Given the description of an element on the screen output the (x, y) to click on. 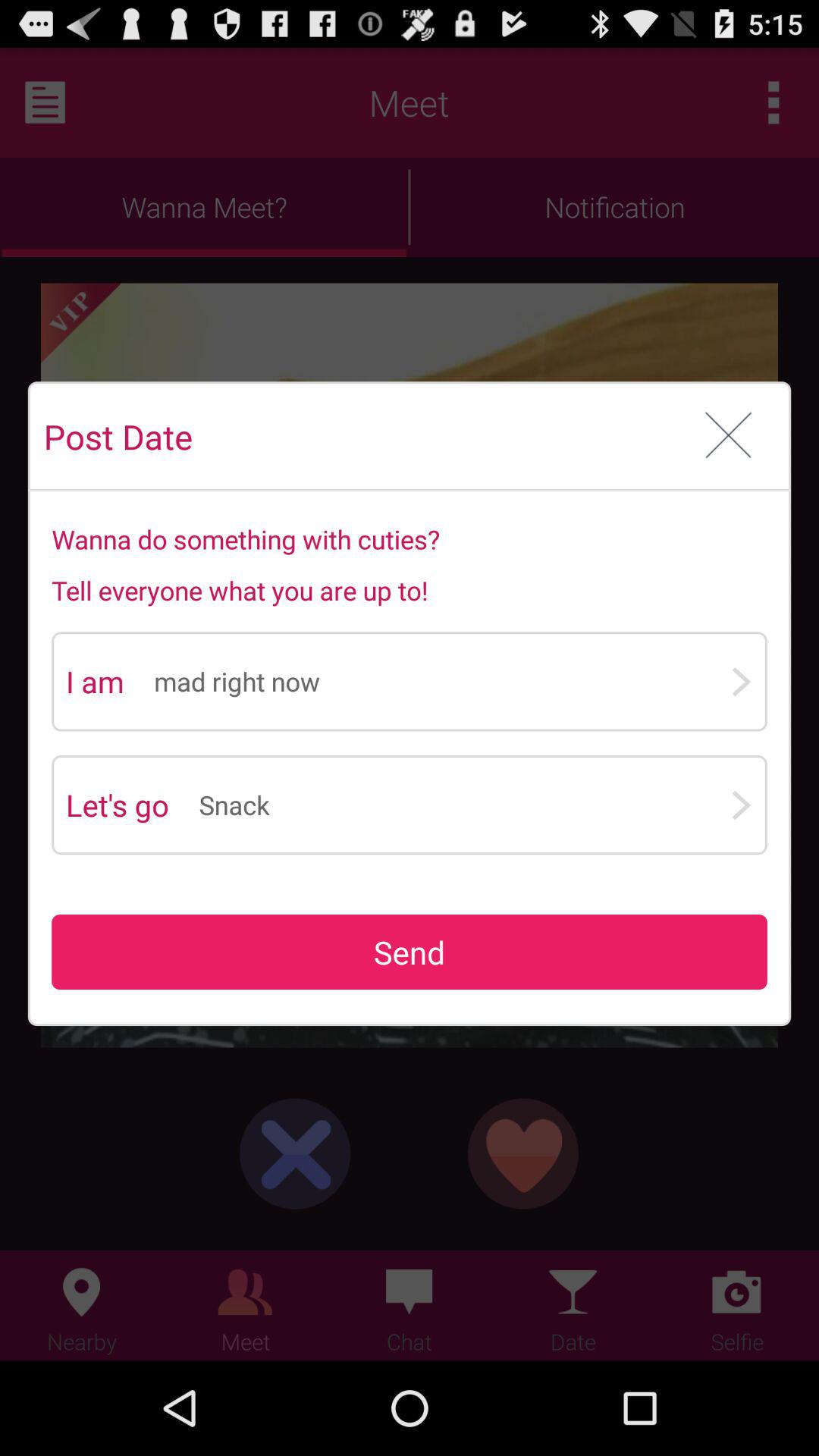
swipe until snack app (464, 804)
